Given the description of an element on the screen output the (x, y) to click on. 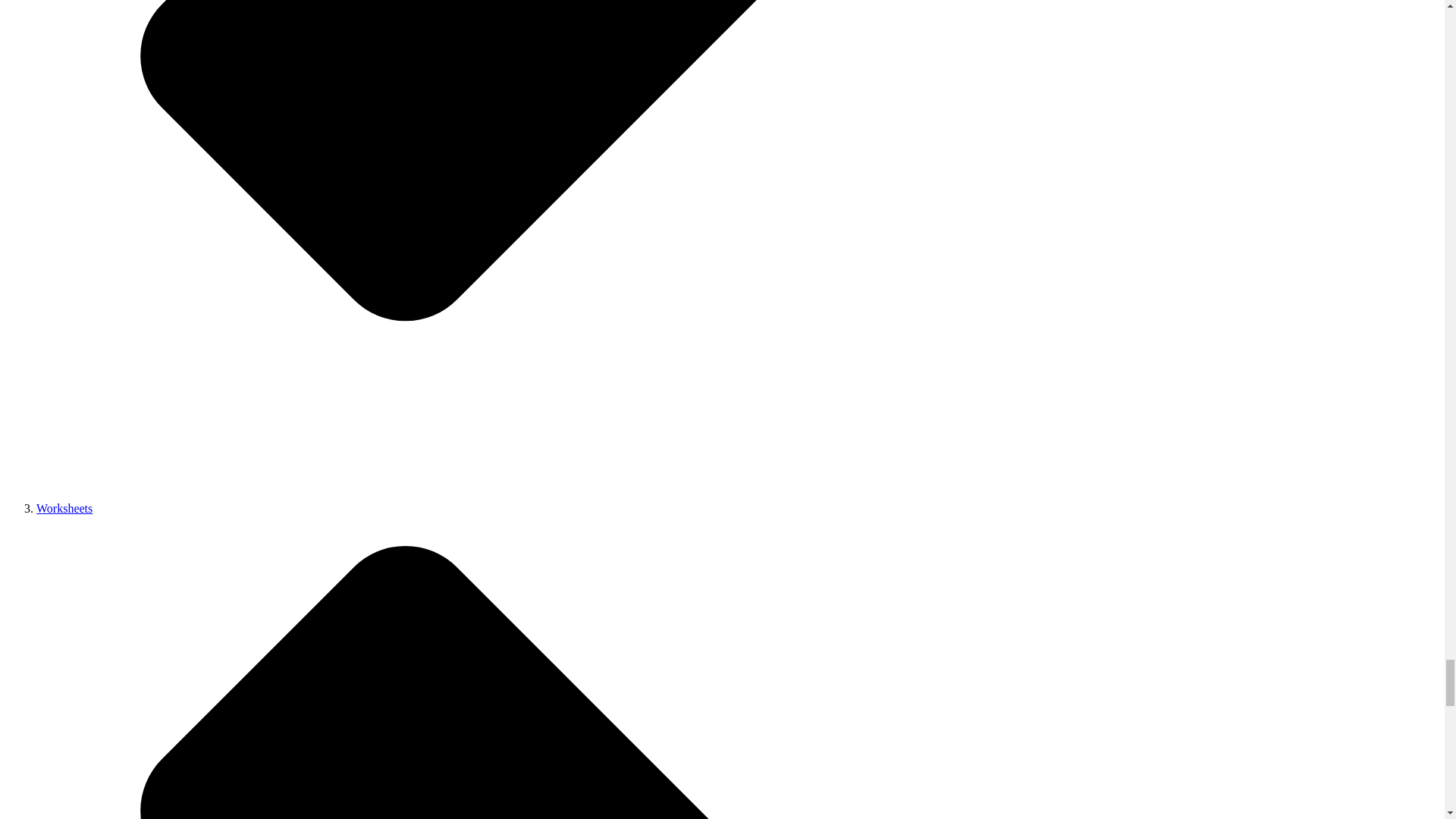
Worksheets (64, 508)
